Given the description of an element on the screen output the (x, y) to click on. 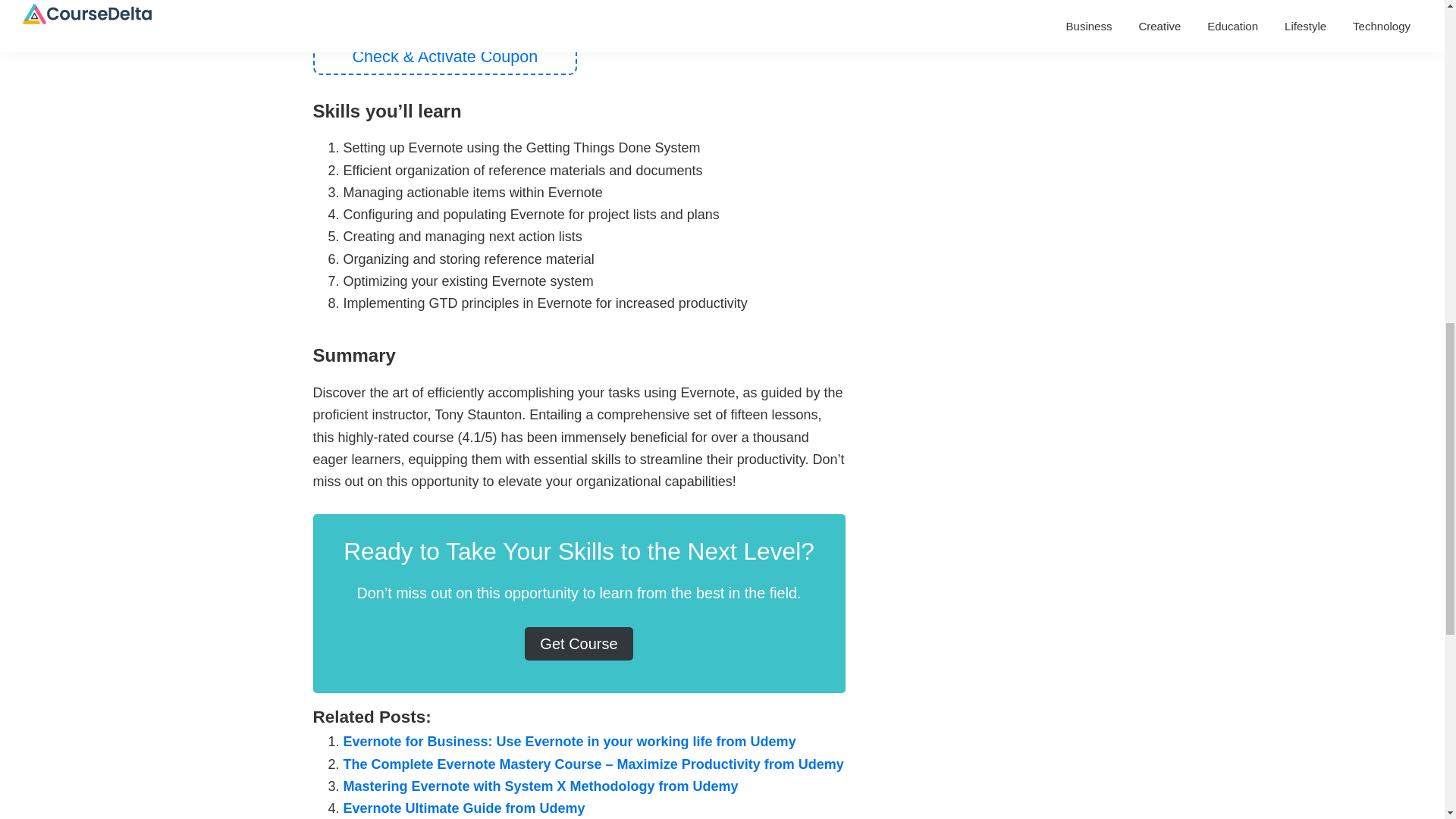
Mastering Evernote with System X Methodology from Udemy (540, 785)
Mastering Evernote with System X Methodology from Udemy (540, 785)
Evernote Ultimate Guide from Udemy (463, 807)
Evernote Ultimate Guide from Udemy (463, 807)
Get Course (577, 643)
